Given the description of an element on the screen output the (x, y) to click on. 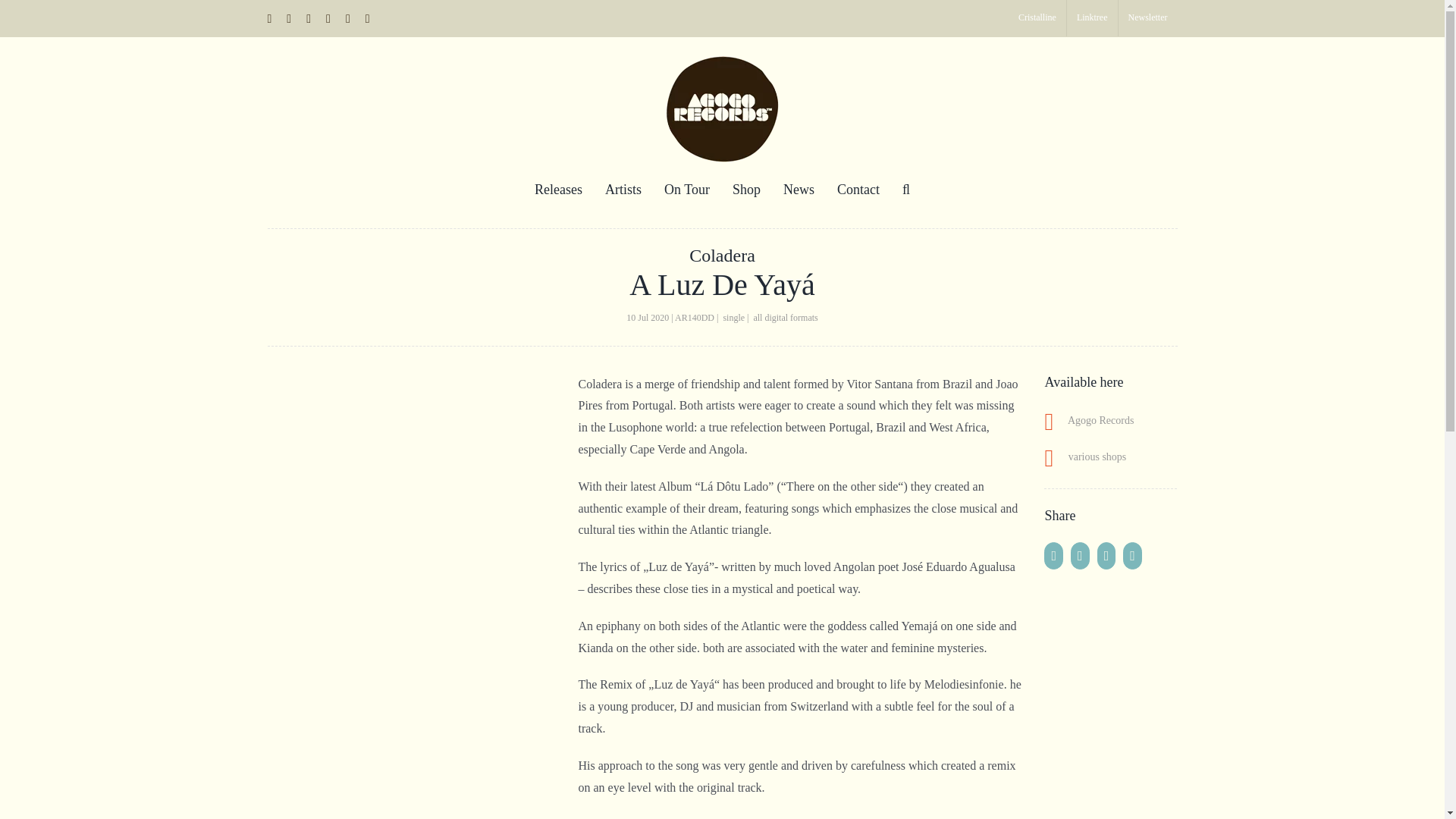
Newsletter (1147, 18)
Cristalline (1037, 18)
Linktree (1092, 18)
Releases (558, 189)
various shops (1084, 456)
Agogo Records (1088, 419)
Artists (623, 189)
